Given the description of an element on the screen output the (x, y) to click on. 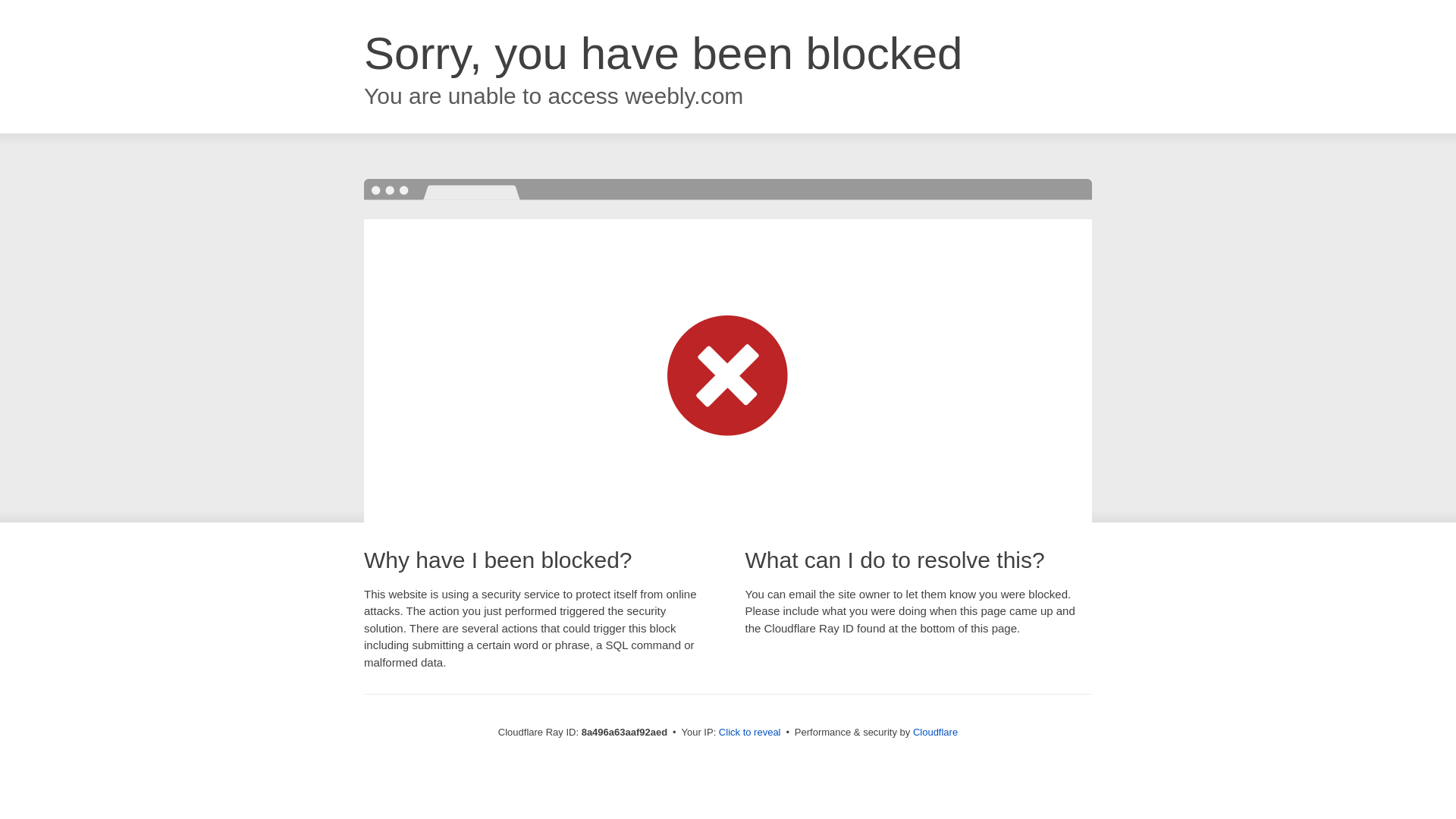
Click to reveal (749, 732)
Cloudflare (935, 731)
